Given the description of an element on the screen output the (x, y) to click on. 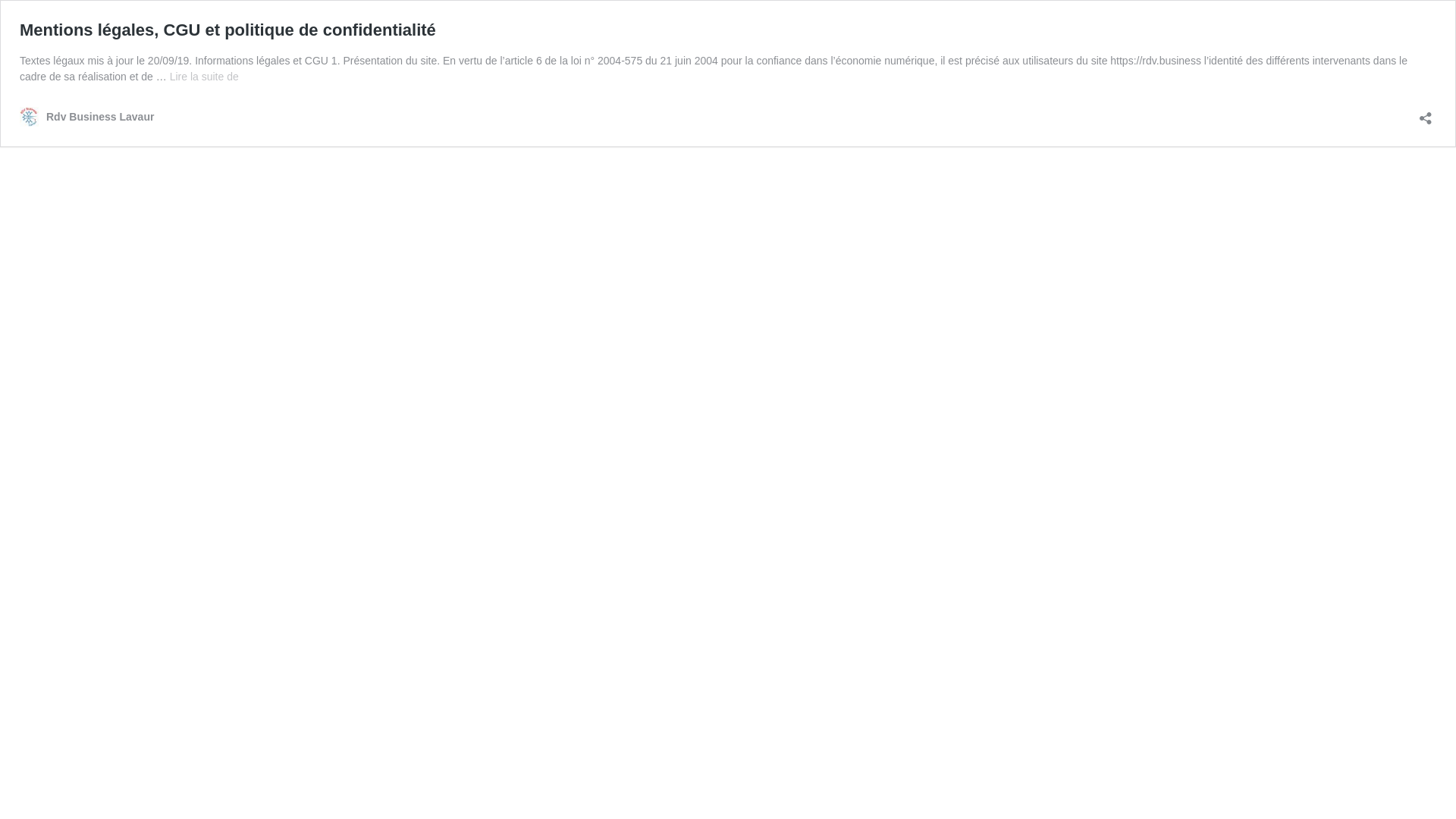
Rdv Business Lavaur Element type: text (86, 116)
